Given the description of an element on the screen output the (x, y) to click on. 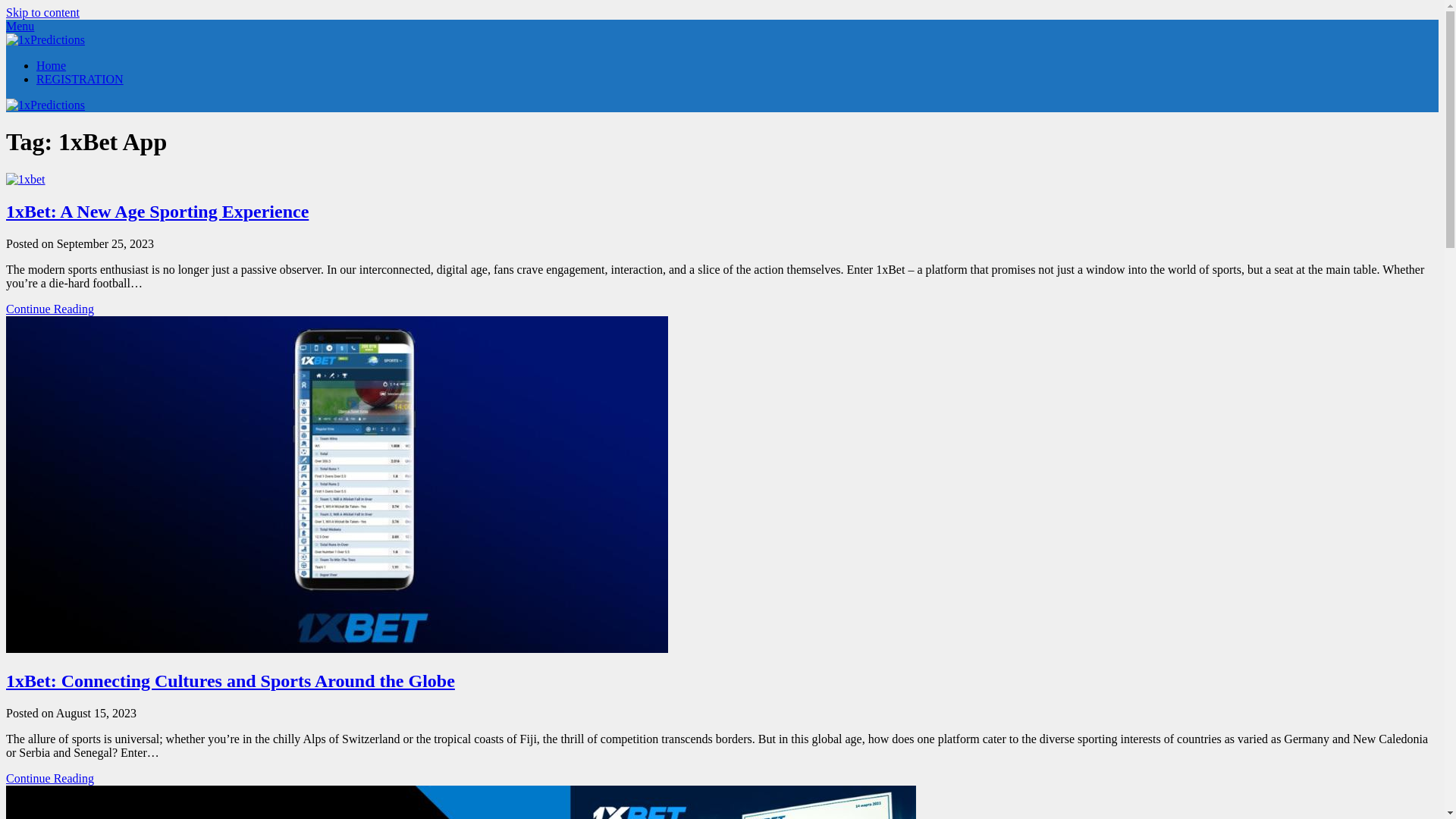
Continue Reading Element type: text (50, 777)
1xBet: Connecting Cultures and Sports Around the Globe Element type: text (230, 680)
Home Element type: text (50, 65)
Menu Element type: text (20, 25)
Continue Reading Element type: text (50, 308)
REGISTRATION Element type: text (79, 78)
Skip to content Element type: text (42, 12)
1xBet: A New Age Sporting Experience Element type: text (157, 211)
